Given the description of an element on the screen output the (x, y) to click on. 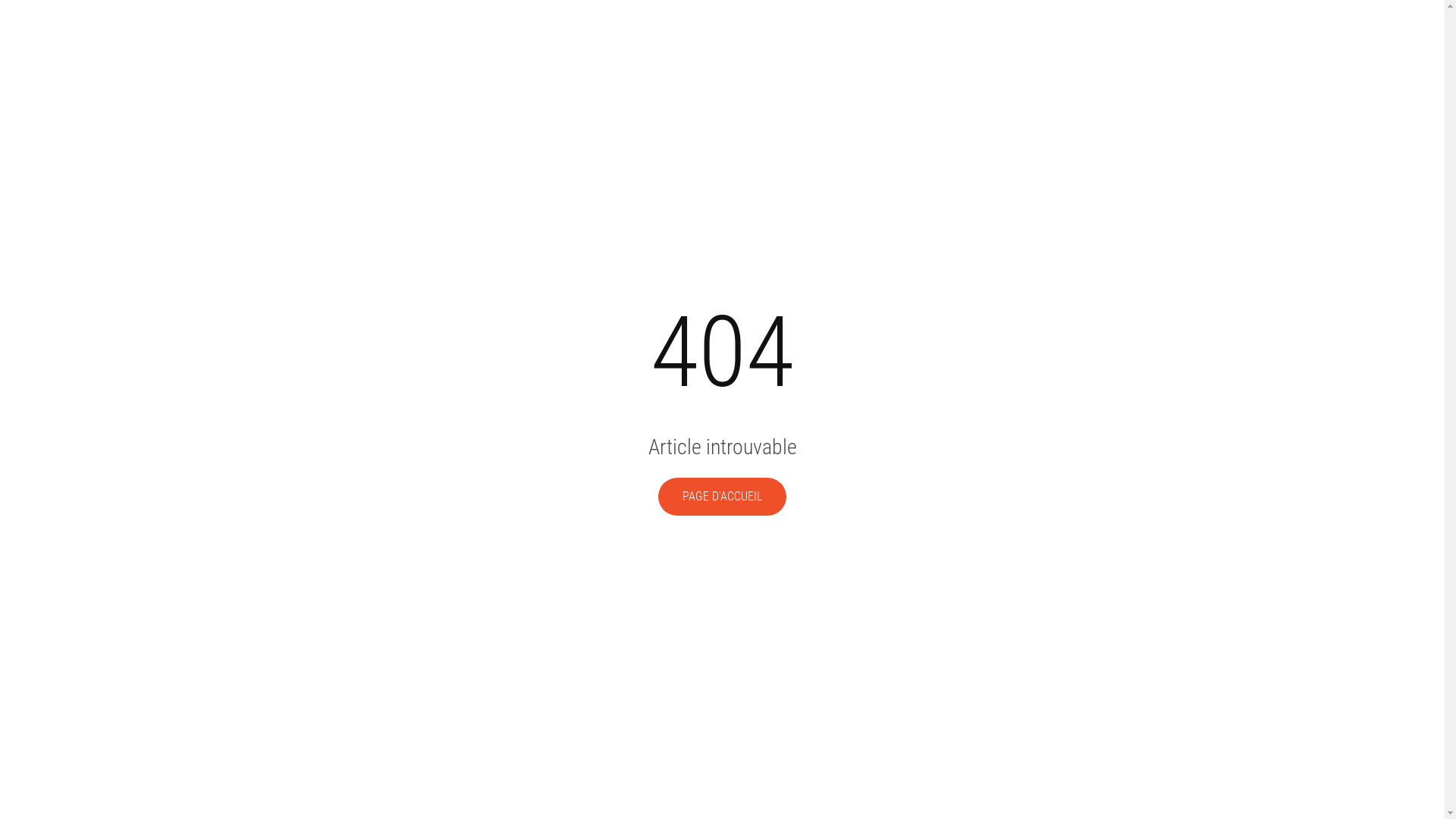
PAGE D'ACCUEIL Element type: text (722, 496)
